Given the description of an element on the screen output the (x, y) to click on. 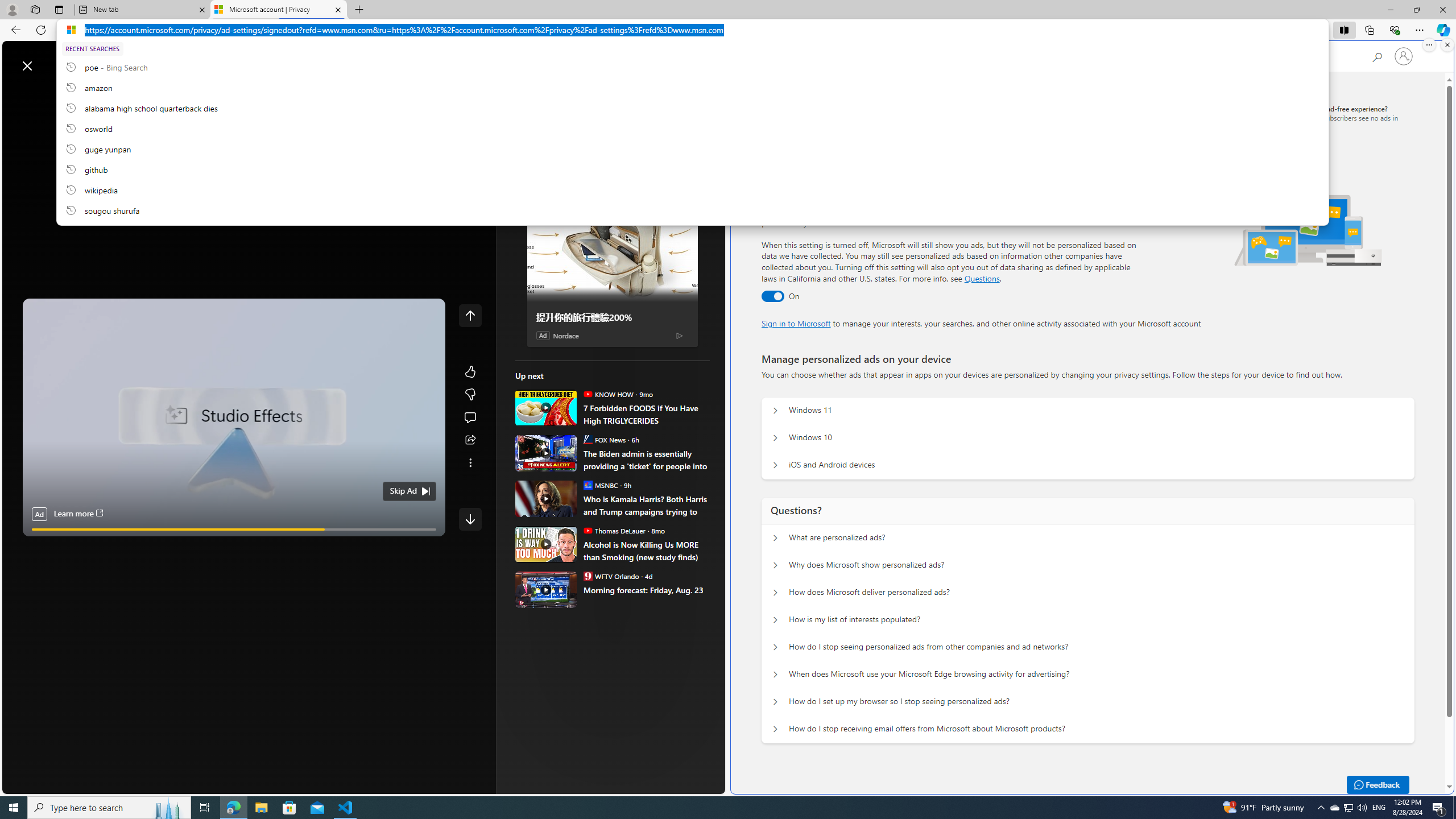
Open settings (699, 60)
7 Forbidden FOODS if You Have High TRIGLYCERIDES (646, 414)
Go to Questions section (981, 278)
poe, recent searches from history (691, 66)
Share this story (469, 440)
More like thisFewer like thisStart the conversation (469, 394)
Enter your search term (366, 59)
Privacy (792, 112)
